Given the description of an element on the screen output the (x, y) to click on. 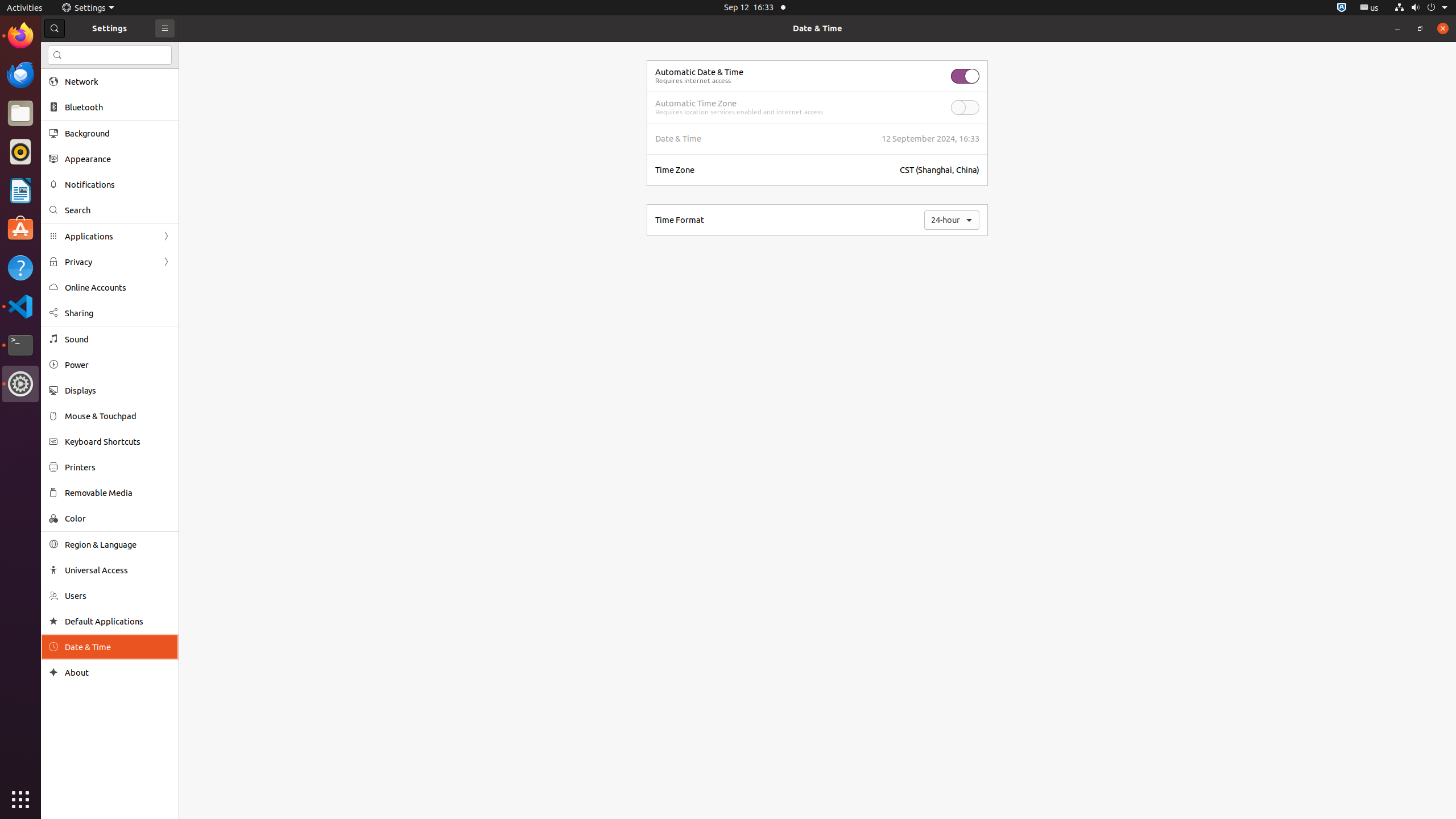
Settings Element type: menu (87, 7)
Date & Time Element type: label (817, 27)
